Given the description of an element on the screen output the (x, y) to click on. 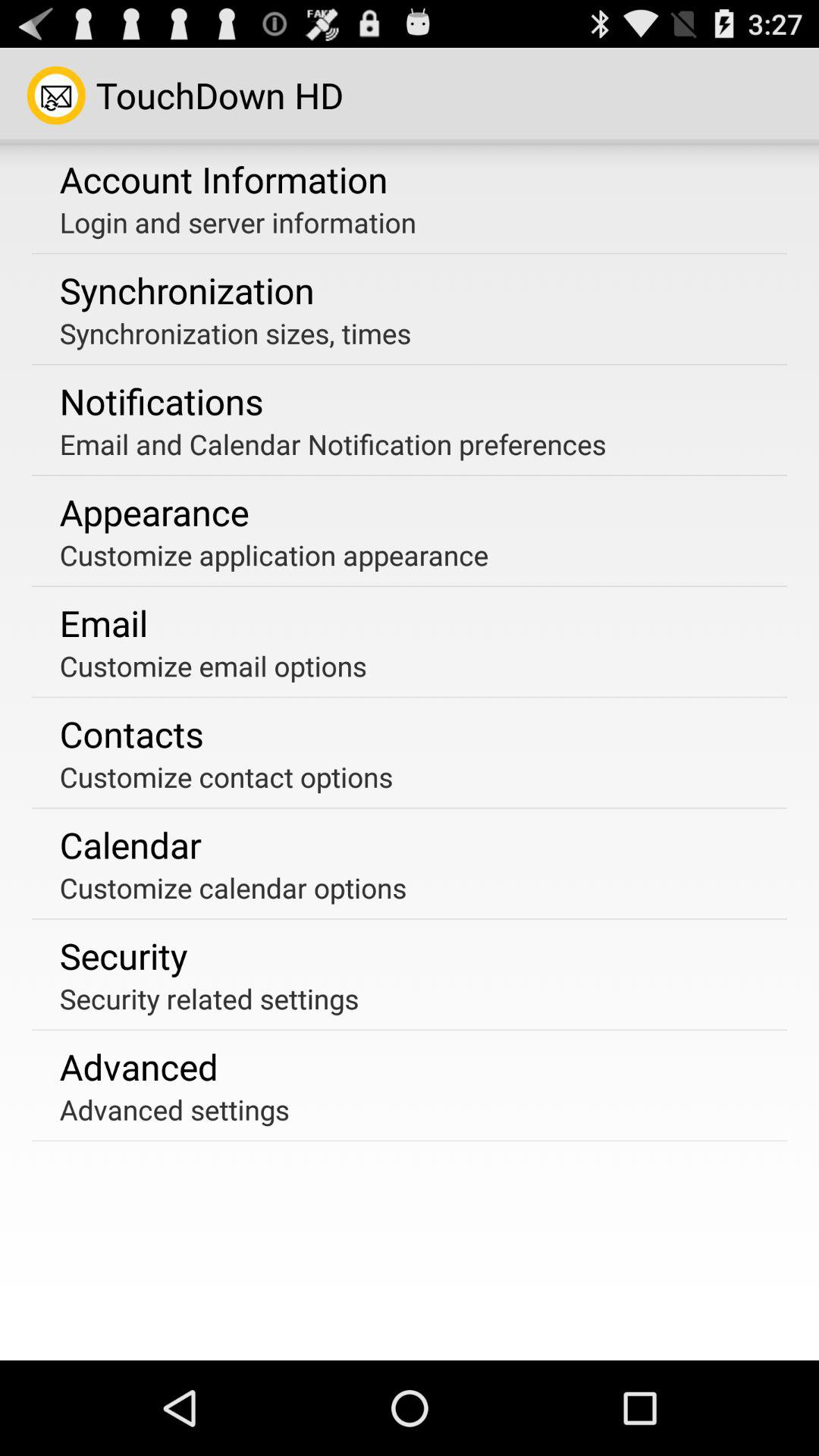
jump to the synchronization sizes, times icon (235, 333)
